Given the description of an element on the screen output the (x, y) to click on. 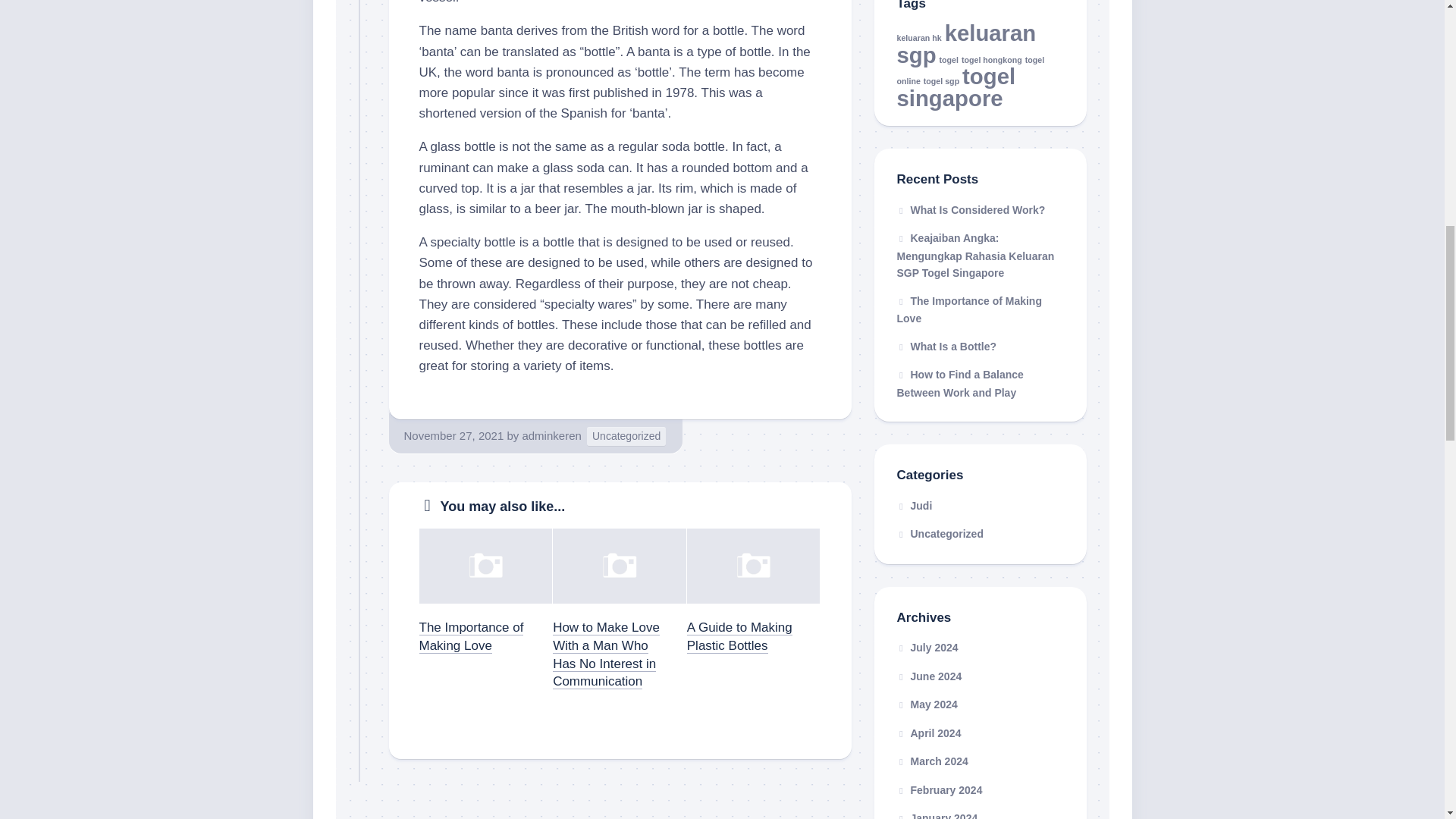
A Guide to Making Plastic Bottles (739, 635)
Posts by adminkeren (550, 435)
Uncategorized (625, 435)
The Importance of Making Love (470, 635)
adminkeren (550, 435)
